Given the description of an element on the screen output the (x, y) to click on. 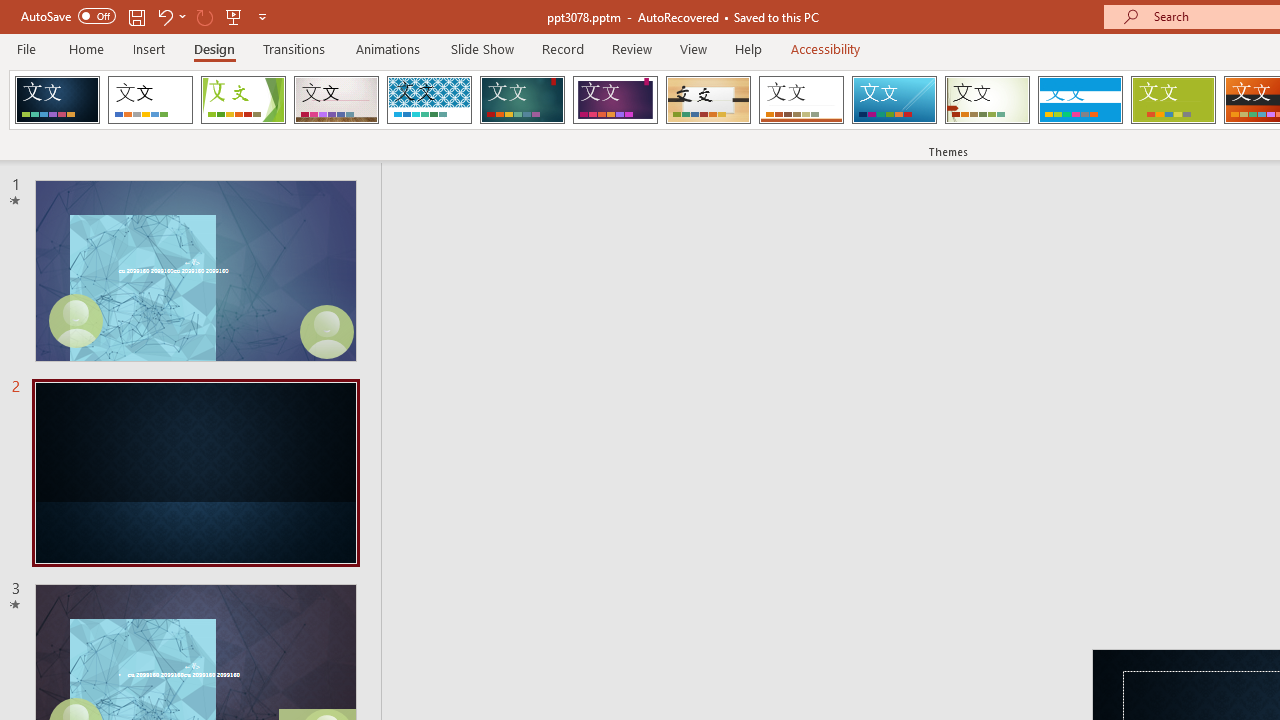
Wisp (987, 100)
Facet (243, 100)
